Given the description of an element on the screen output the (x, y) to click on. 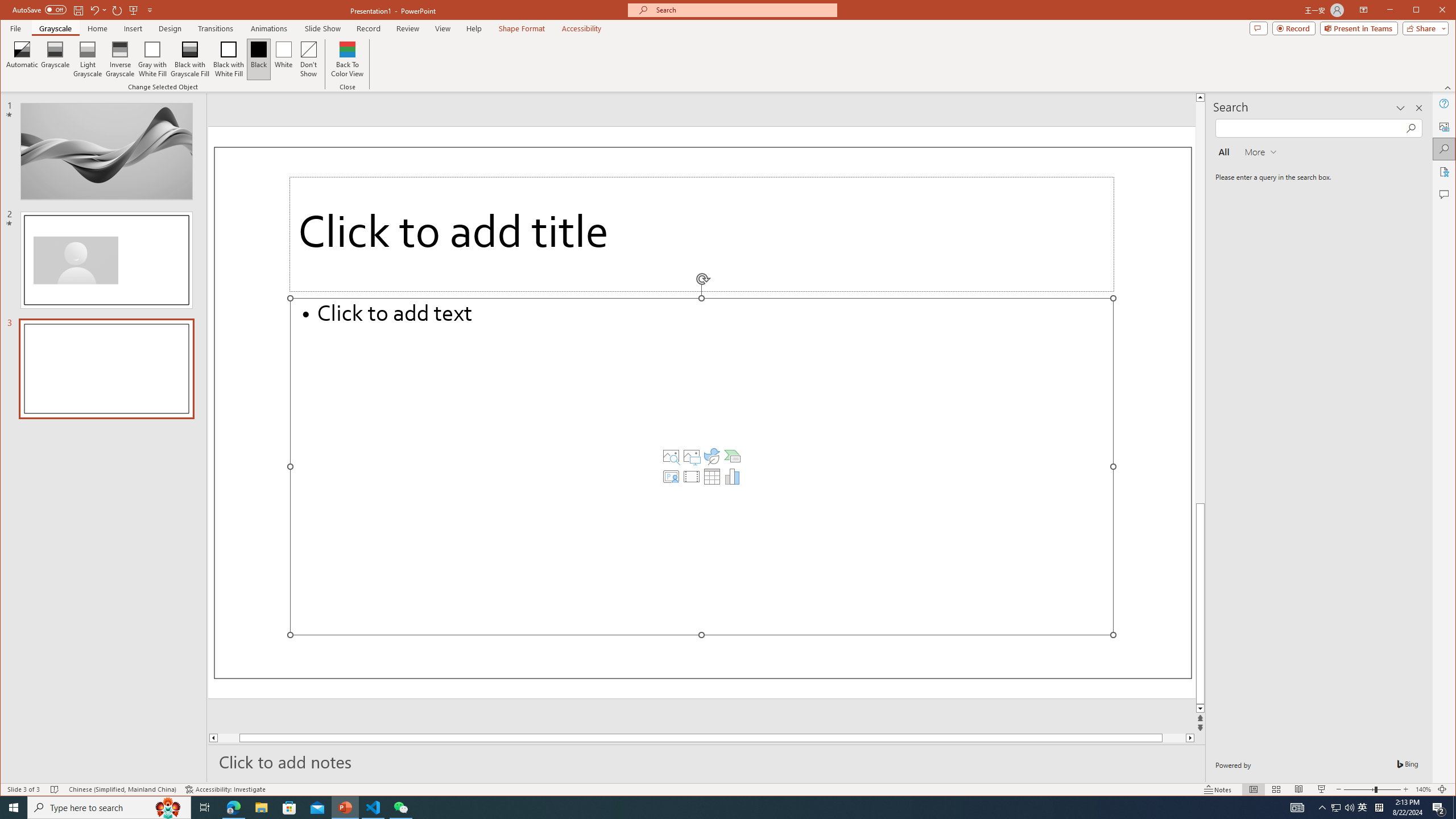
Stock Images (670, 456)
WeChat - 1 running window (400, 807)
